Given the description of an element on the screen output the (x, y) to click on. 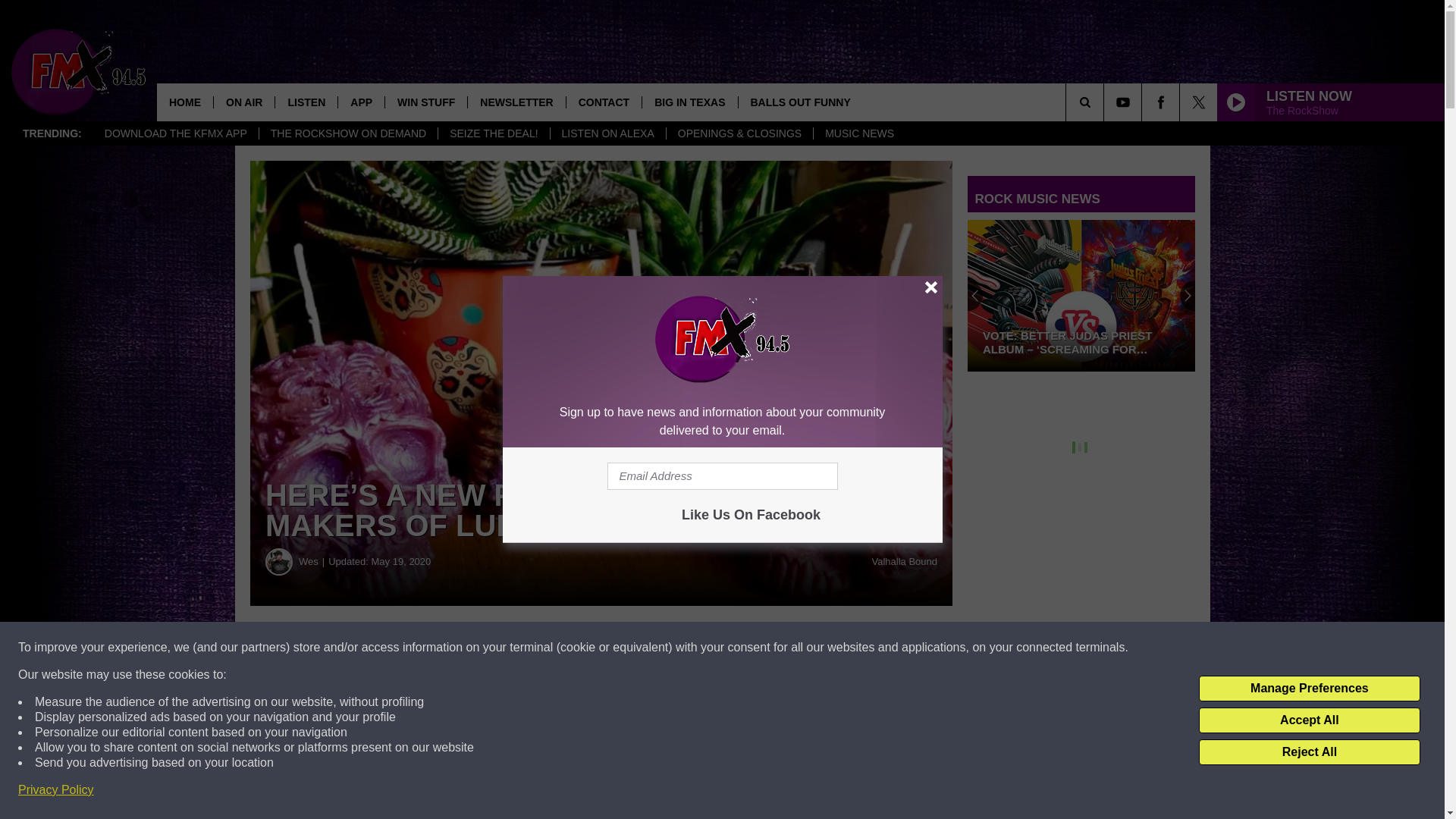
ON AIR (243, 102)
Share on Twitter (741, 647)
TRENDING: (52, 133)
APP (360, 102)
Privacy Policy (55, 789)
DOWNLOAD THE KFMX APP (176, 133)
SEIZE THE DEAL! (493, 133)
Reject All (1309, 751)
WIN STUFF (425, 102)
MUSIC NEWS (858, 133)
HOME (184, 102)
Accept All (1309, 720)
LISTEN ON ALEXA (607, 133)
SEARCH (1106, 102)
THE ROCKSHOW ON DEMAND (348, 133)
